Given the description of an element on the screen output the (x, y) to click on. 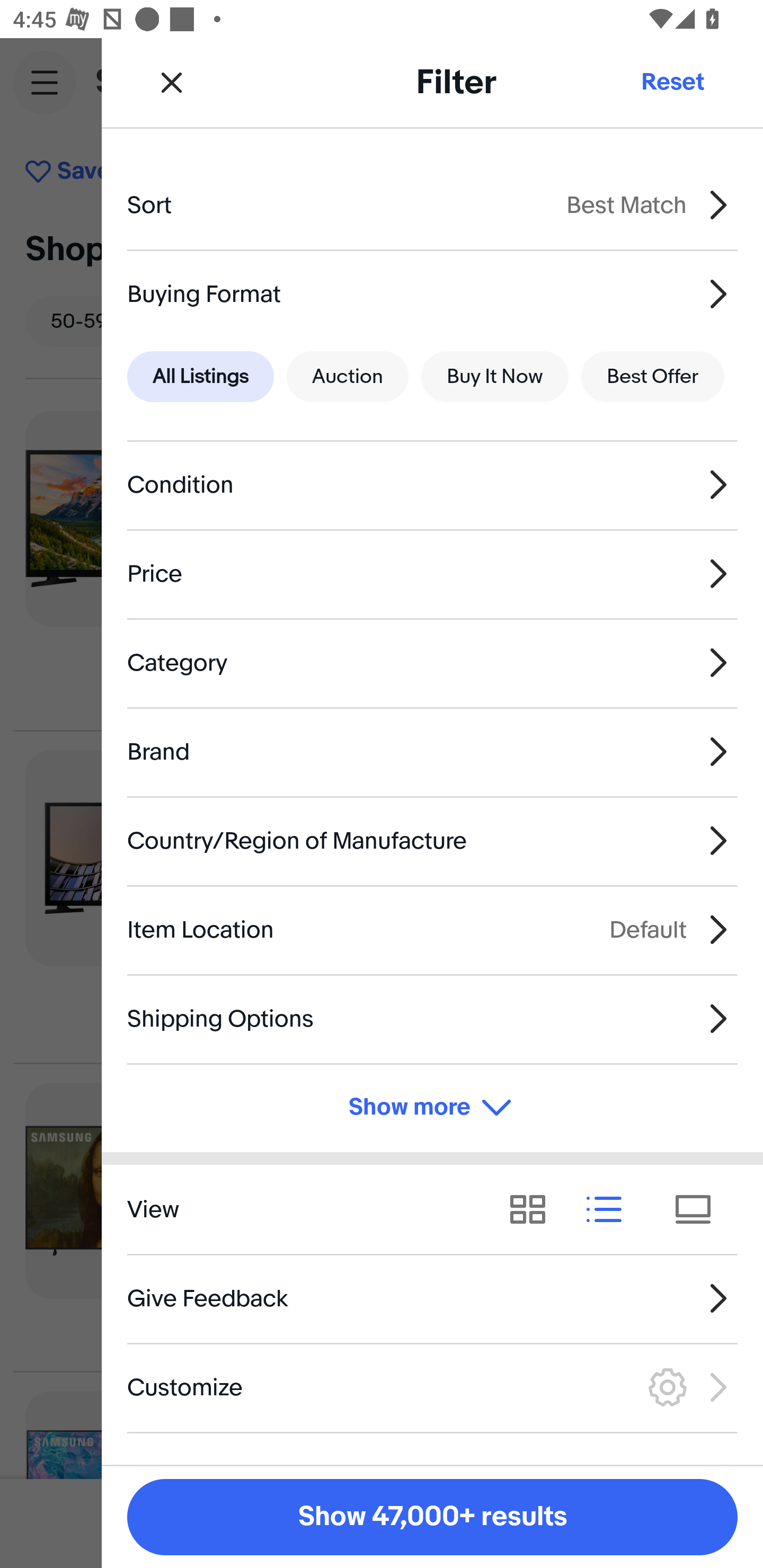
Close Filter (171, 81)
Reset (672, 81)
Buying Format (432, 293)
All Listings (200, 376)
Auction (347, 376)
Buy It Now (494, 376)
Best Offer (652, 376)
Condition (432, 484)
Price (432, 573)
Category (432, 662)
Brand (432, 751)
Country/Region of Manufacture (432, 840)
Item Location Default (432, 929)
Shipping Options (432, 1018)
Show more (432, 1107)
View results as grid (533, 1209)
View results as list (610, 1209)
View results as tiles (699, 1209)
